Given the description of an element on the screen output the (x, y) to click on. 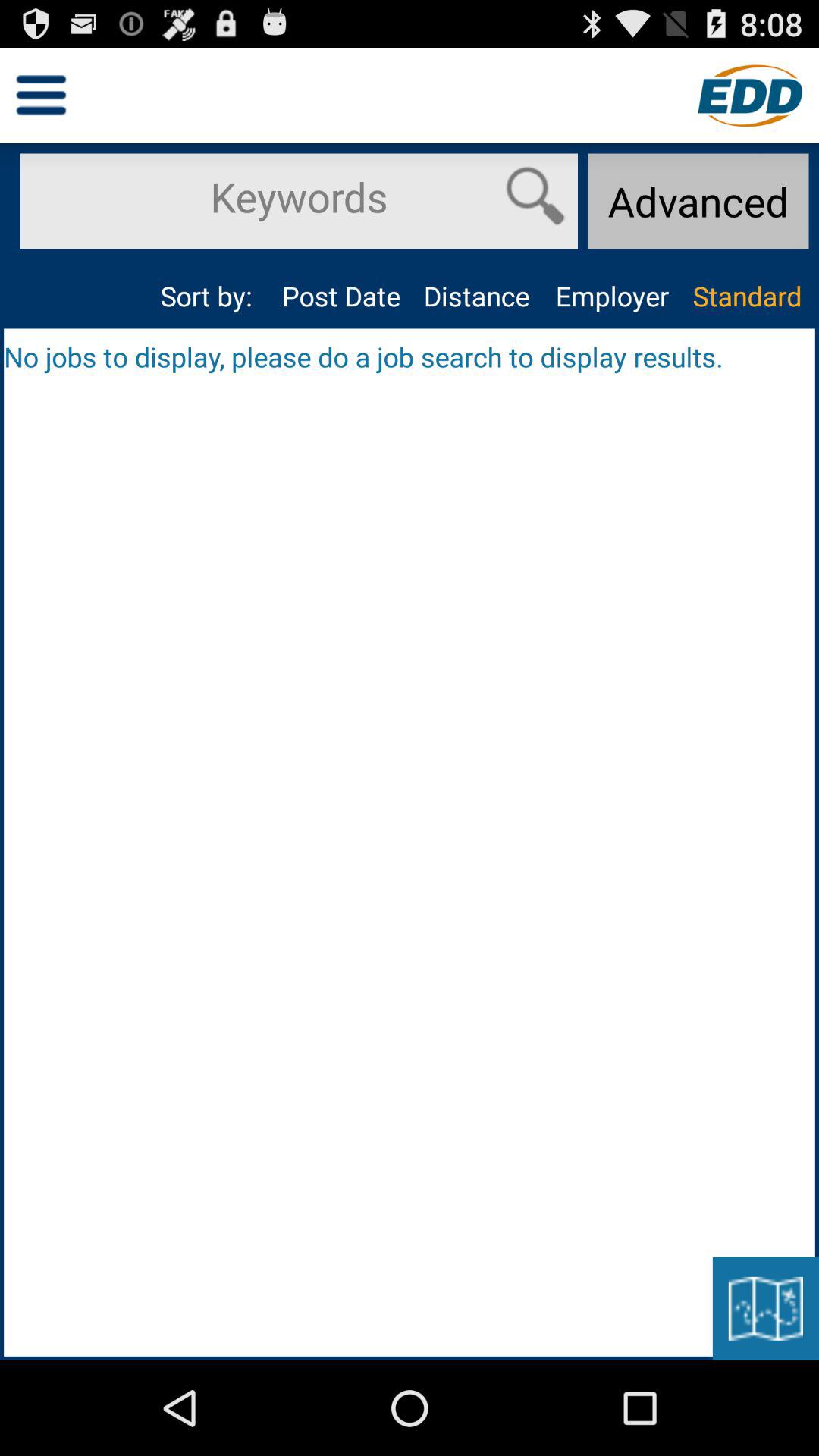
press the app to the right of the distance app (611, 295)
